Given the description of an element on the screen output the (x, y) to click on. 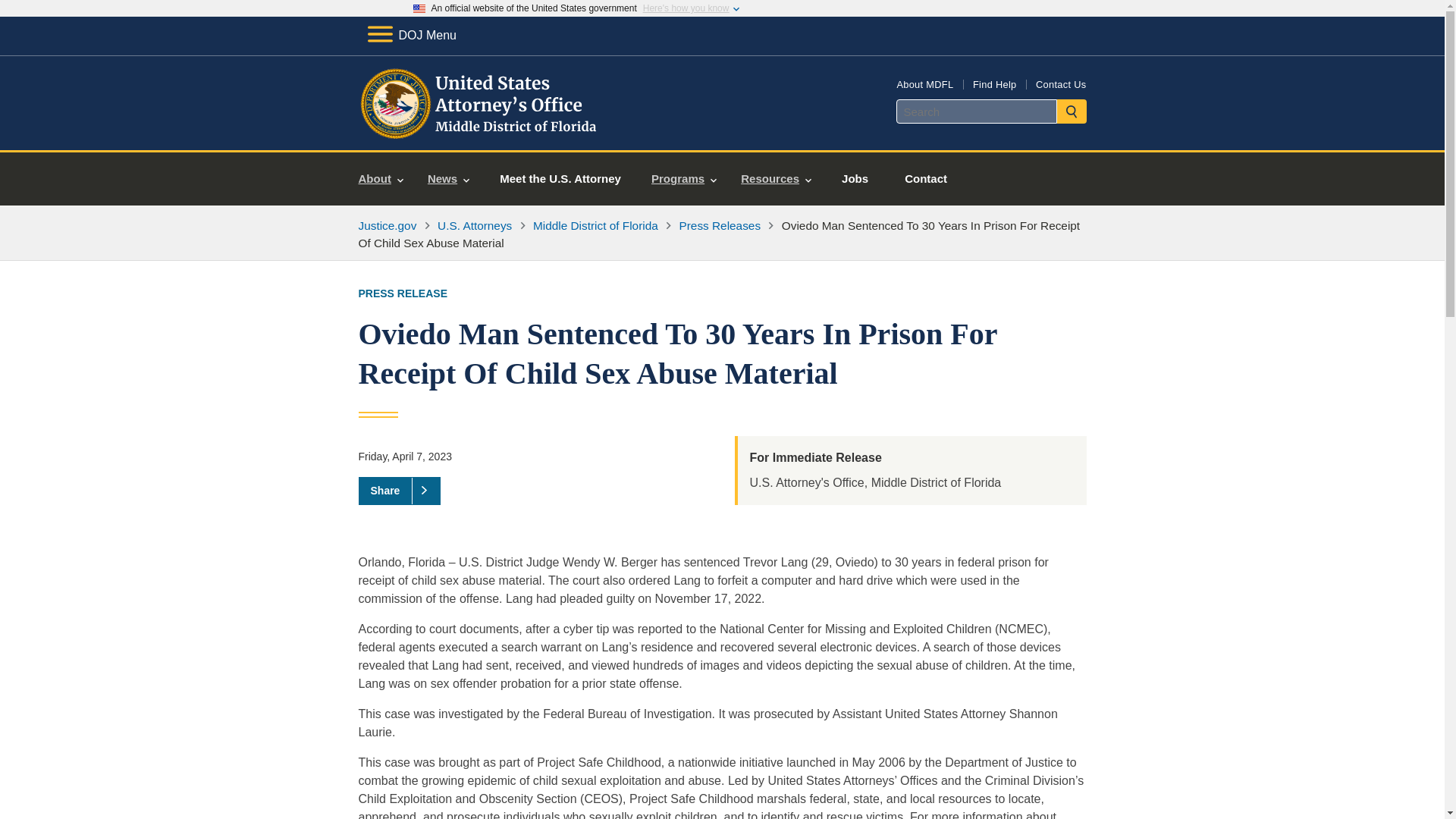
Share (398, 490)
Programs (684, 179)
Middle District of Florida (595, 225)
U.S. Attorneys (475, 225)
Press Releases (720, 225)
About (380, 179)
Resources (776, 179)
Justice.gov (387, 225)
Here's how you know (686, 8)
Jobs (855, 179)
Contact Us (1060, 84)
Meet the U.S. Attorney (560, 179)
Contact (925, 179)
About MDFL (924, 84)
Home (481, 132)
